Given the description of an element on the screen output the (x, y) to click on. 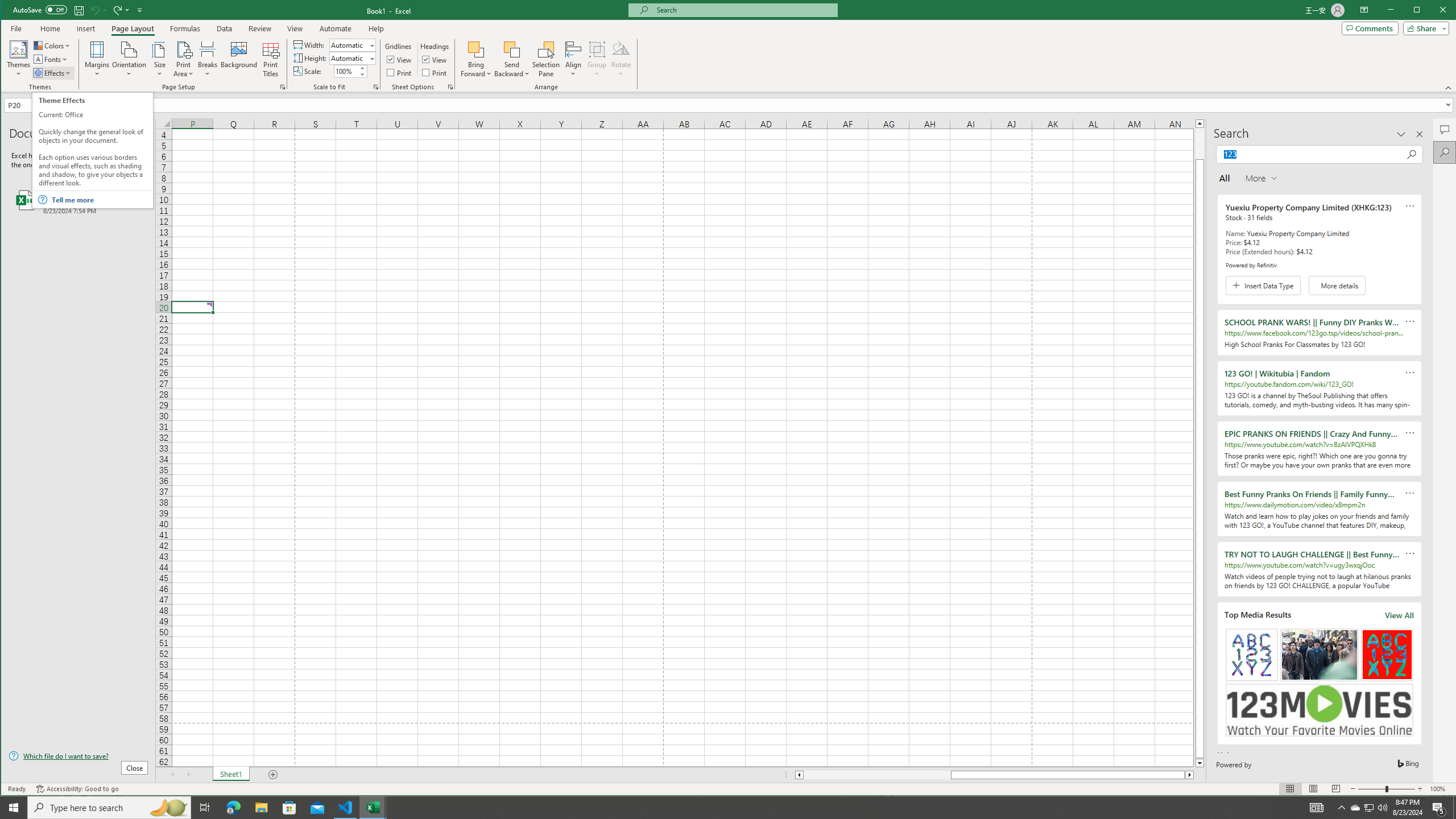
Less (361, 73)
Send Backward (512, 48)
Notification Chevron (1341, 807)
Microsoft Store (1355, 807)
Tell me more (289, 807)
Width (100, 199)
